Given the description of an element on the screen output the (x, y) to click on. 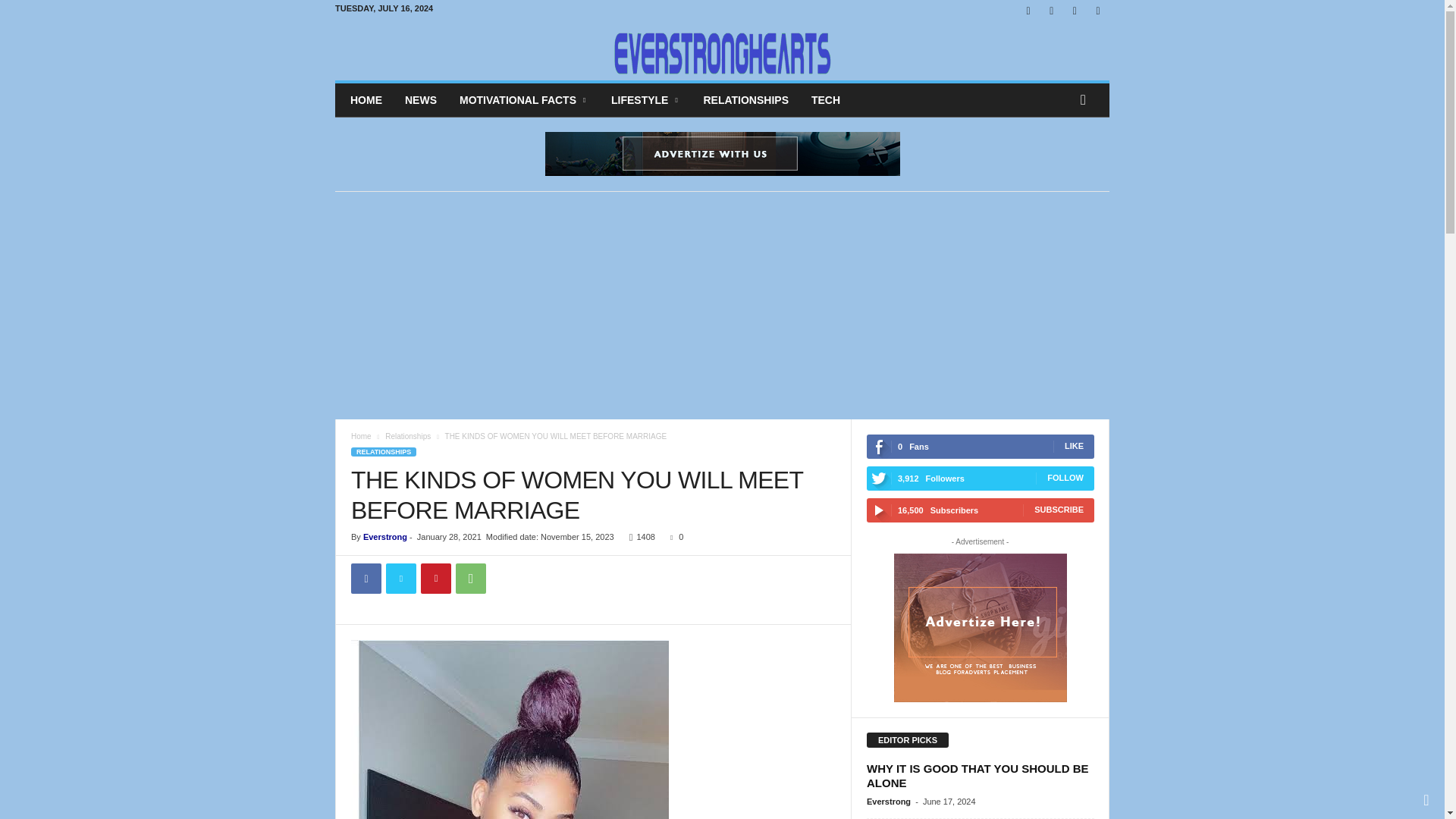
0 (672, 536)
MOTIVATIONAL FACTS (523, 100)
NEWS (420, 100)
RELATIONSHIPS (383, 451)
LIFESTYLE (645, 100)
Twitter (1074, 11)
WhatsApp (470, 578)
Everstrong (384, 536)
View all posts in Relationships (407, 436)
Twitter (400, 578)
TECH (825, 100)
Facebook (1027, 11)
Facebook (365, 578)
Youtube (1097, 11)
